Given the description of an element on the screen output the (x, y) to click on. 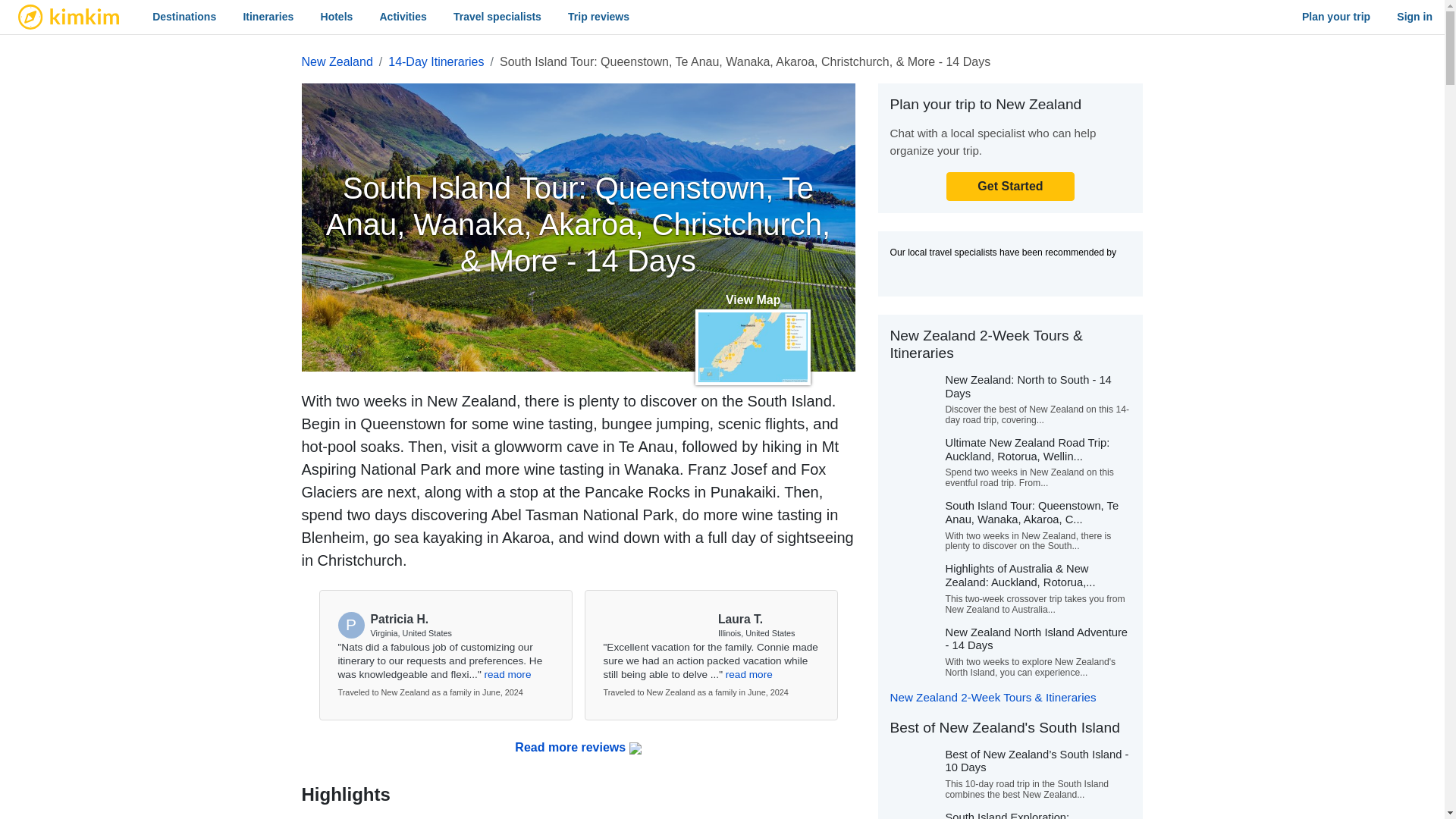
New Zealand North Island Adventure - 14 Days (1035, 638)
kimkim (68, 17)
New Zealand: North to South - 14 Days (1027, 386)
Sign in (1414, 17)
Destinations (184, 17)
